Given the description of an element on the screen output the (x, y) to click on. 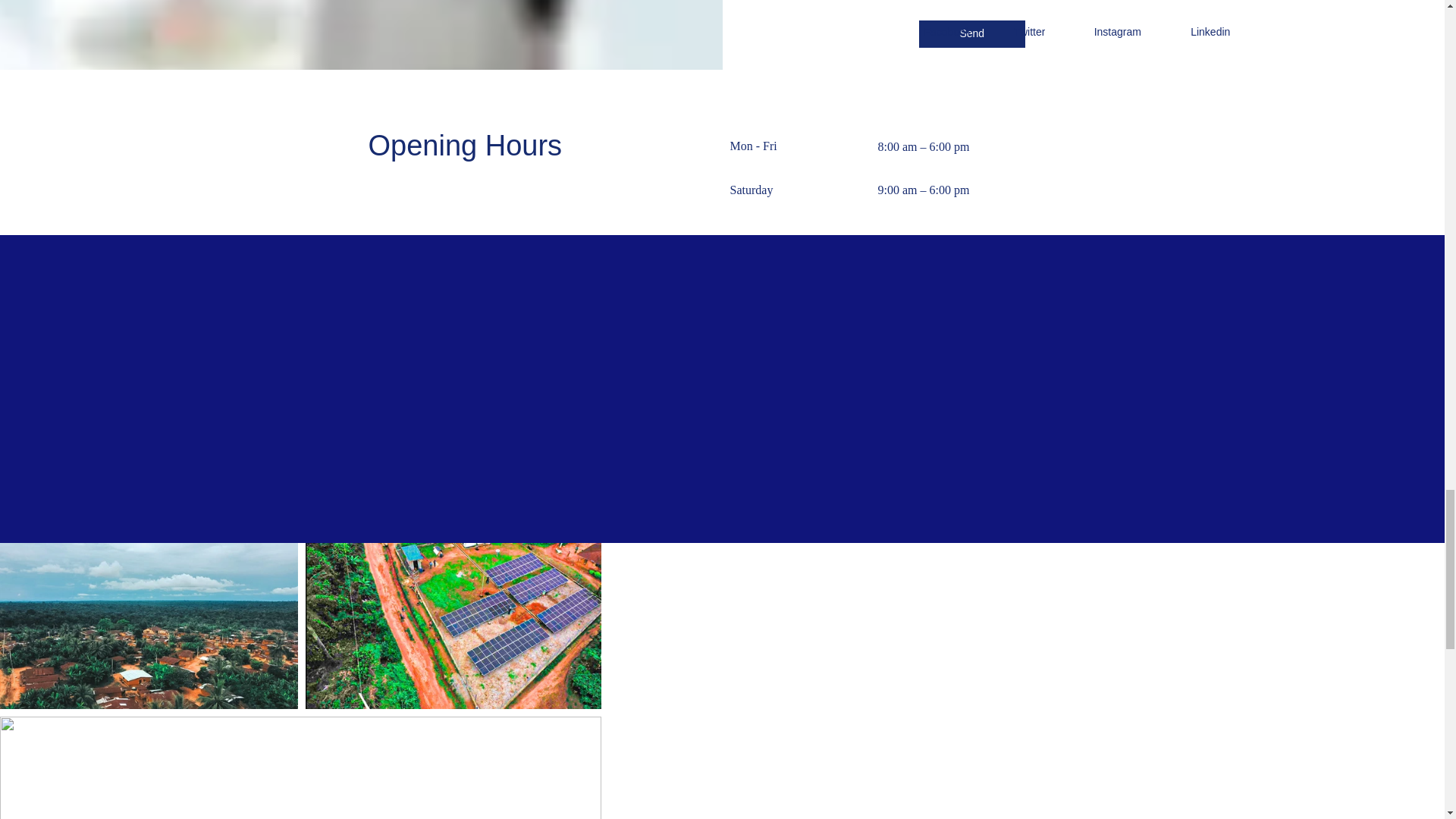
Instagram (1119, 31)
Send (971, 33)
Linkedin (1211, 31)
Facebook (949, 31)
Twitter (1030, 31)
